Given the description of an element on the screen output the (x, y) to click on. 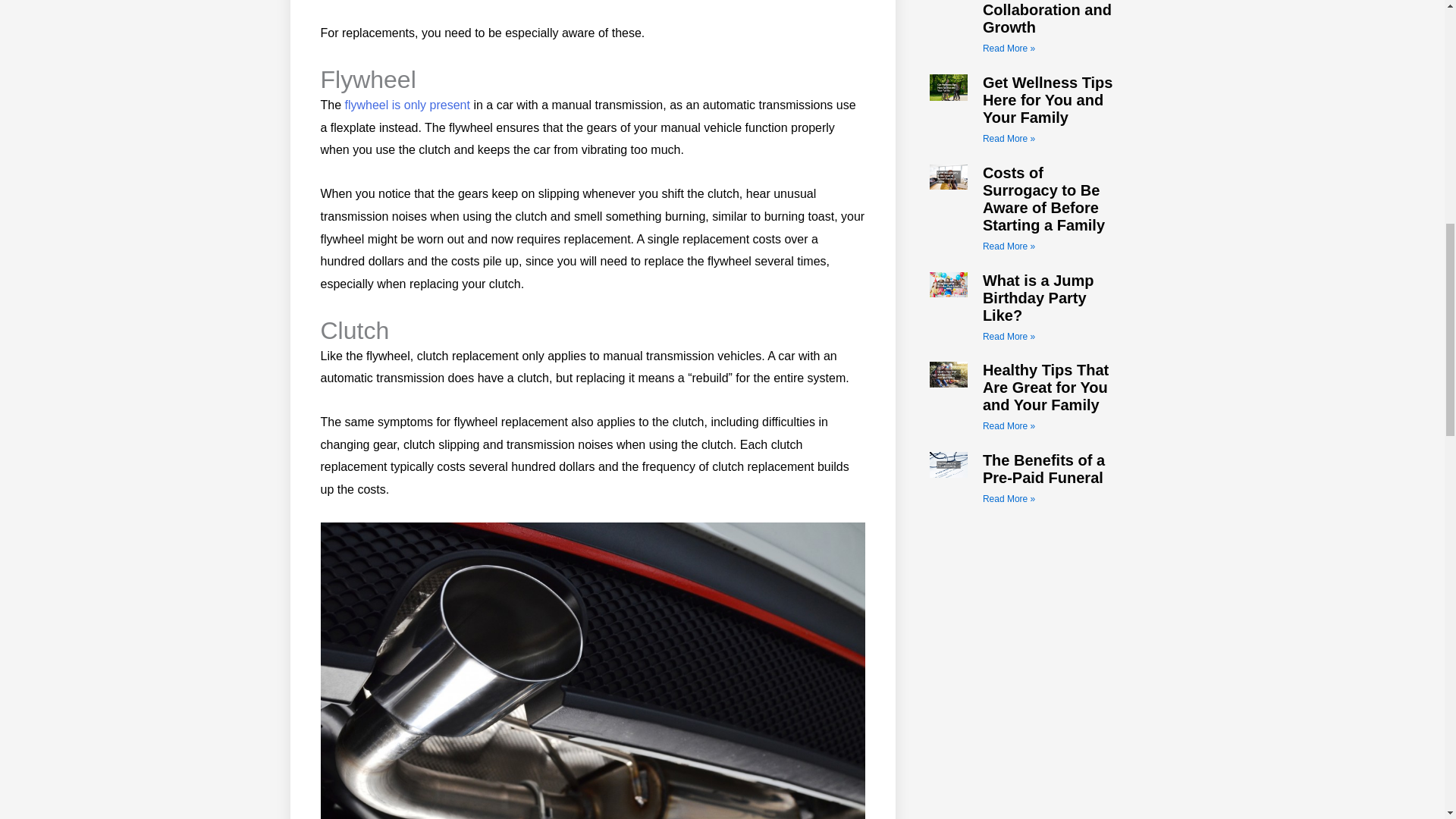
flywheel is only present (407, 104)
HowStuffWorks (407, 104)
Costs of Surrogacy to Be Aware of Before Starting a Family (1043, 198)
What is a Jump Birthday Party Like? (1038, 297)
Get Wellness Tips Here for You and Your Family (1047, 100)
Strategies to Foster Small Business Collaboration and Growth (1047, 18)
